Given the description of an element on the screen output the (x, y) to click on. 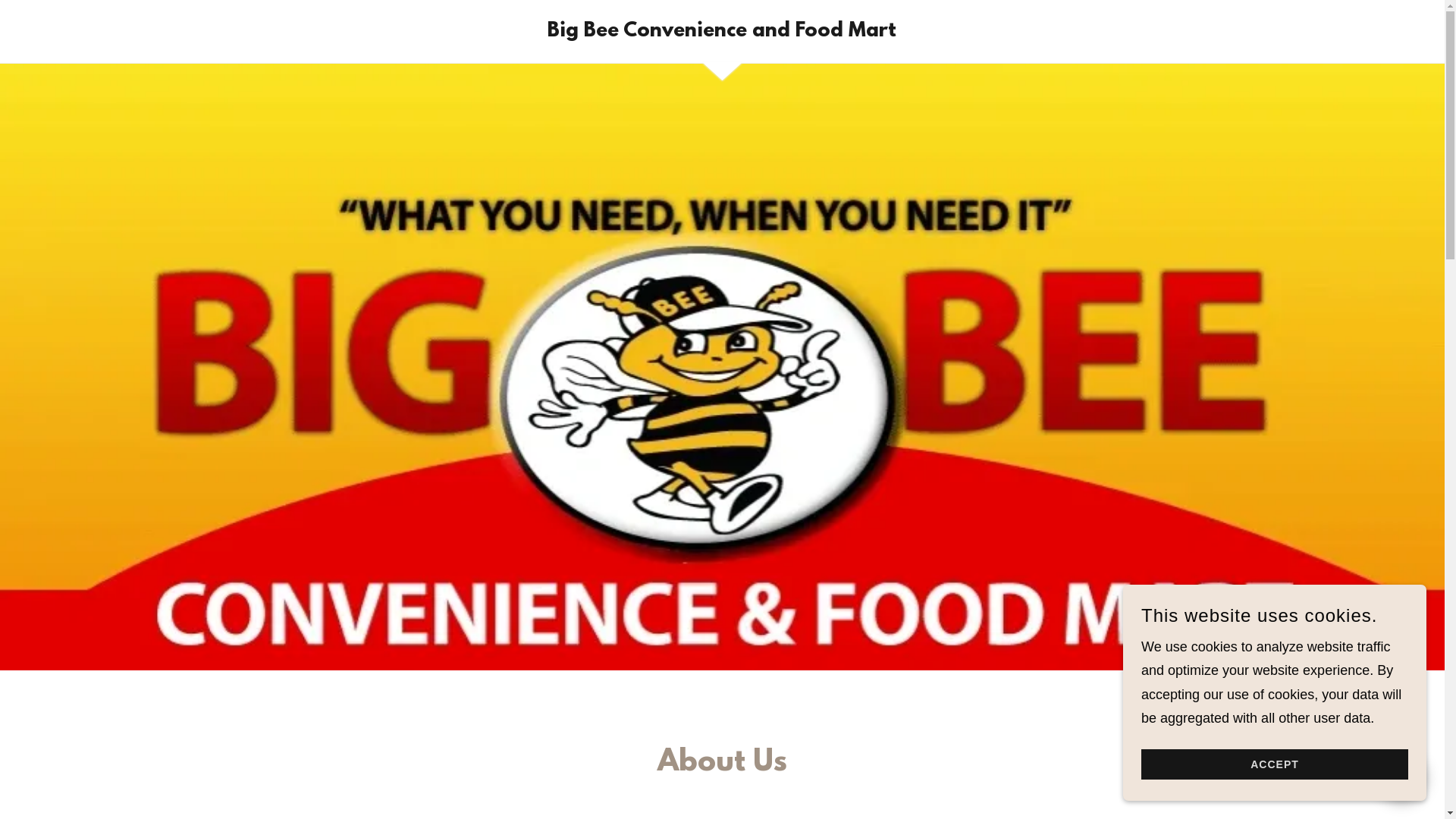
ACCEPT Element type: text (1274, 764)
Big Bee Convenience and Food Mart Element type: text (721, 31)
